Given the description of an element on the screen output the (x, y) to click on. 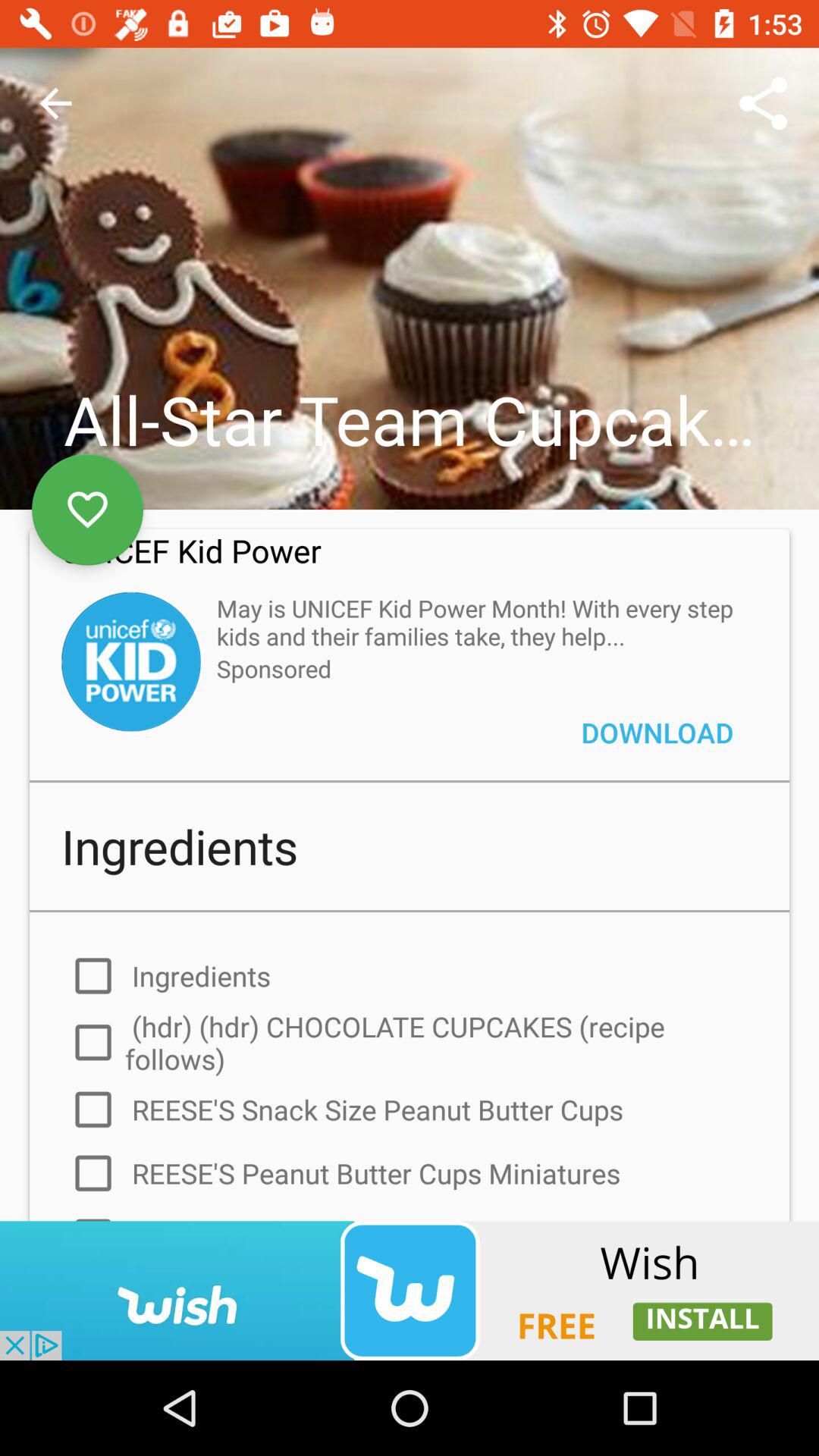
click the kid power (130, 661)
